Given the description of an element on the screen output the (x, y) to click on. 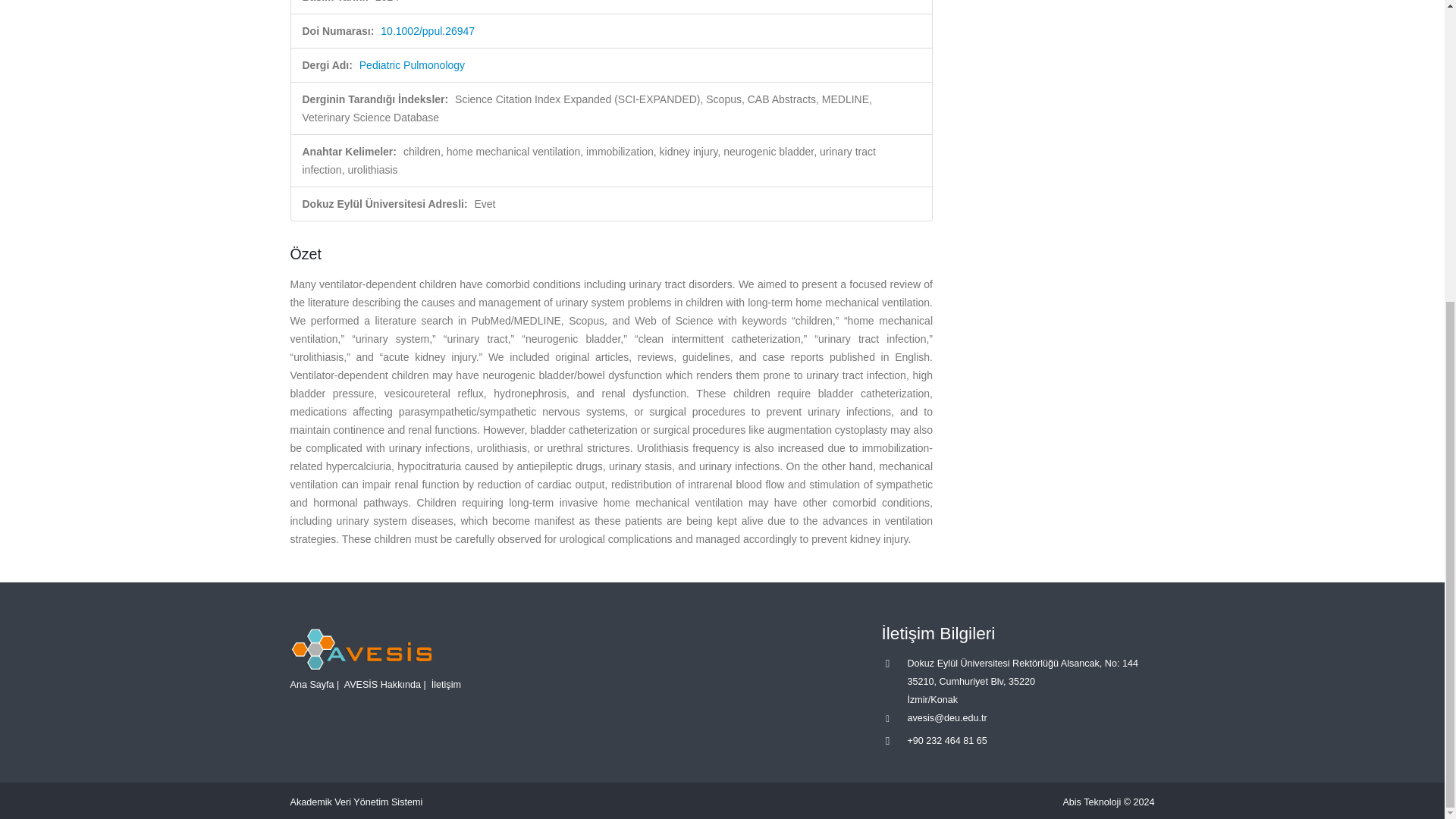
Pediatric Pulmonology (411, 64)
Abis Teknoloji (1091, 801)
Ana Sayfa (311, 684)
